Given the description of an element on the screen output the (x, y) to click on. 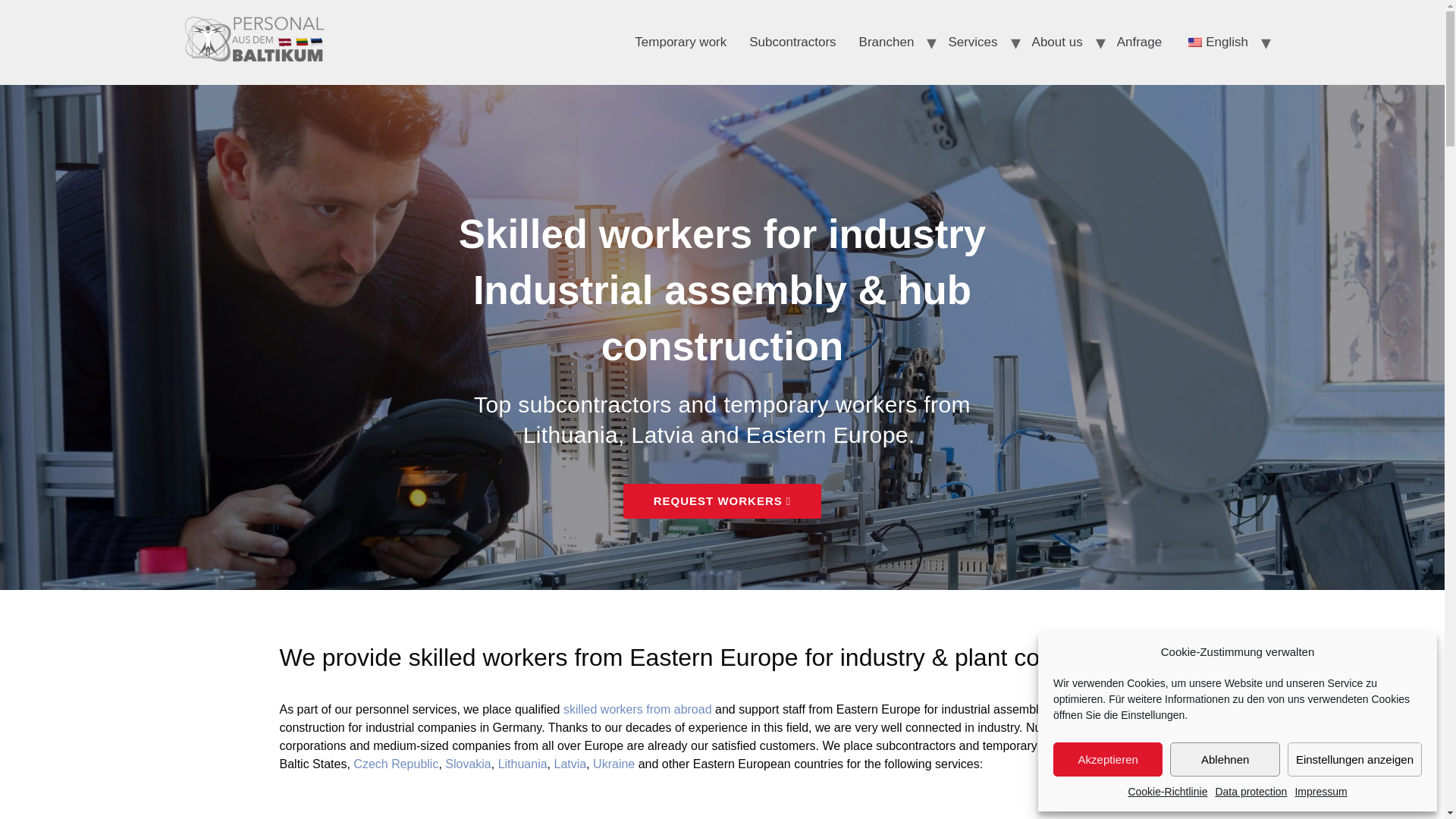
Ablehnen (1224, 759)
Data protection (1250, 791)
Services (972, 42)
Impressum (1320, 791)
Branchen (886, 42)
About us (1057, 42)
English (1195, 41)
Akzeptieren (1106, 759)
Einstellungen anzeigen (1354, 759)
Cookie-Richtlinie (1166, 791)
